Given the description of an element on the screen output the (x, y) to click on. 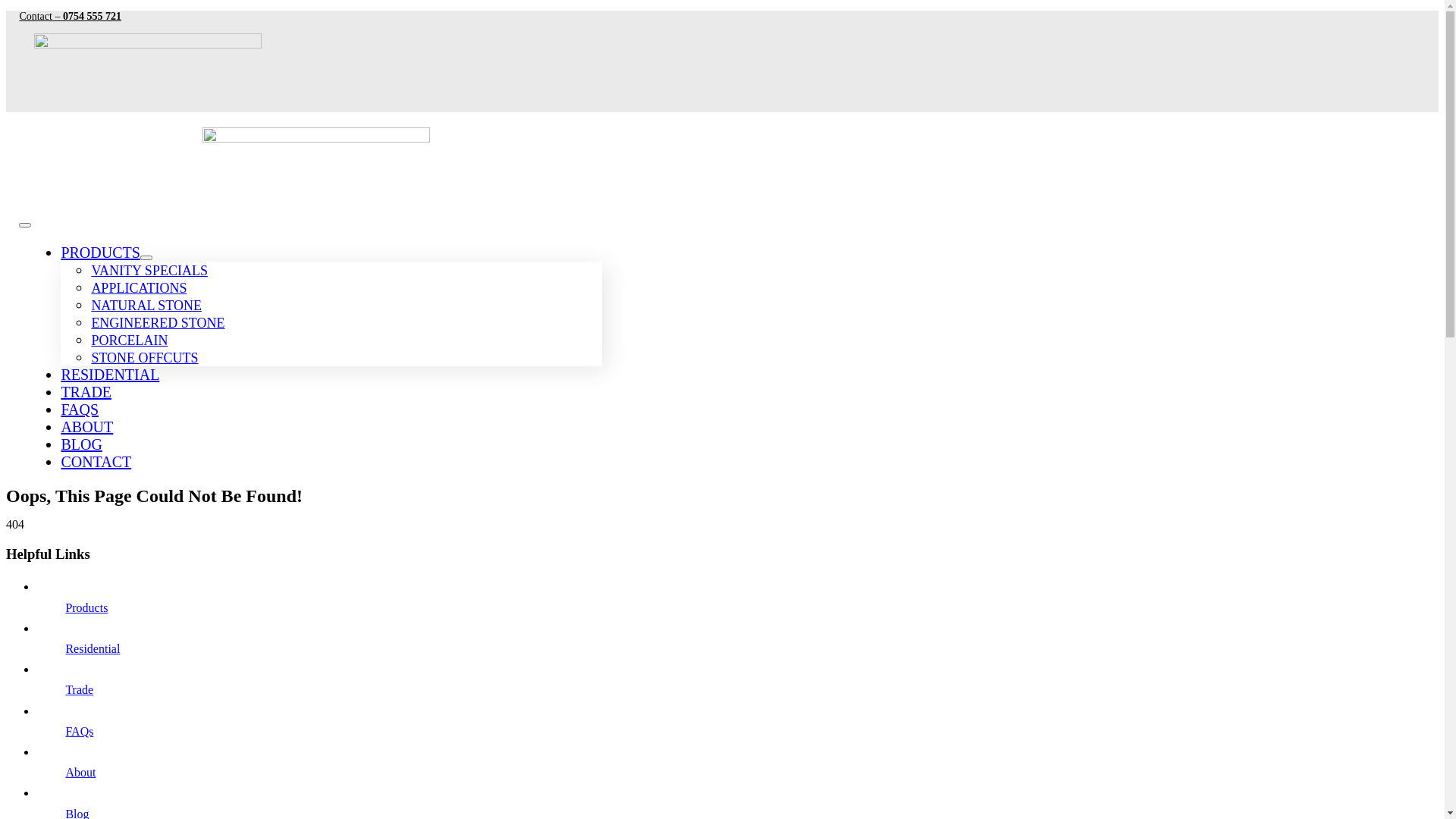
APPLICATIONS Element type: text (138, 287)
PRODUCTS Element type: text (99, 252)
Residential Element type: text (92, 648)
FAQs Element type: text (79, 730)
RESIDENTIAL Element type: text (109, 374)
STONE OFFCUTS Element type: text (144, 357)
AP_logo_badge_6328x2204_blackwhite Element type: hover (147, 72)
Products Element type: text (86, 607)
Skip to content Element type: text (5, 9)
VANITY SPECIALS Element type: text (149, 270)
CONTACT Element type: text (95, 461)
Trade Element type: text (79, 689)
NATURAL STONE Element type: text (146, 305)
TRADE Element type: text (85, 391)
ENGINEERED STONE Element type: text (157, 322)
PORCELAIN Element type: text (129, 340)
BLOG Element type: text (80, 444)
About Element type: text (80, 771)
Toggle Navigation Element type: text (24, 224)
ABOUT Element type: text (86, 426)
FAQS Element type: text (79, 409)
